Given the description of an element on the screen output the (x, y) to click on. 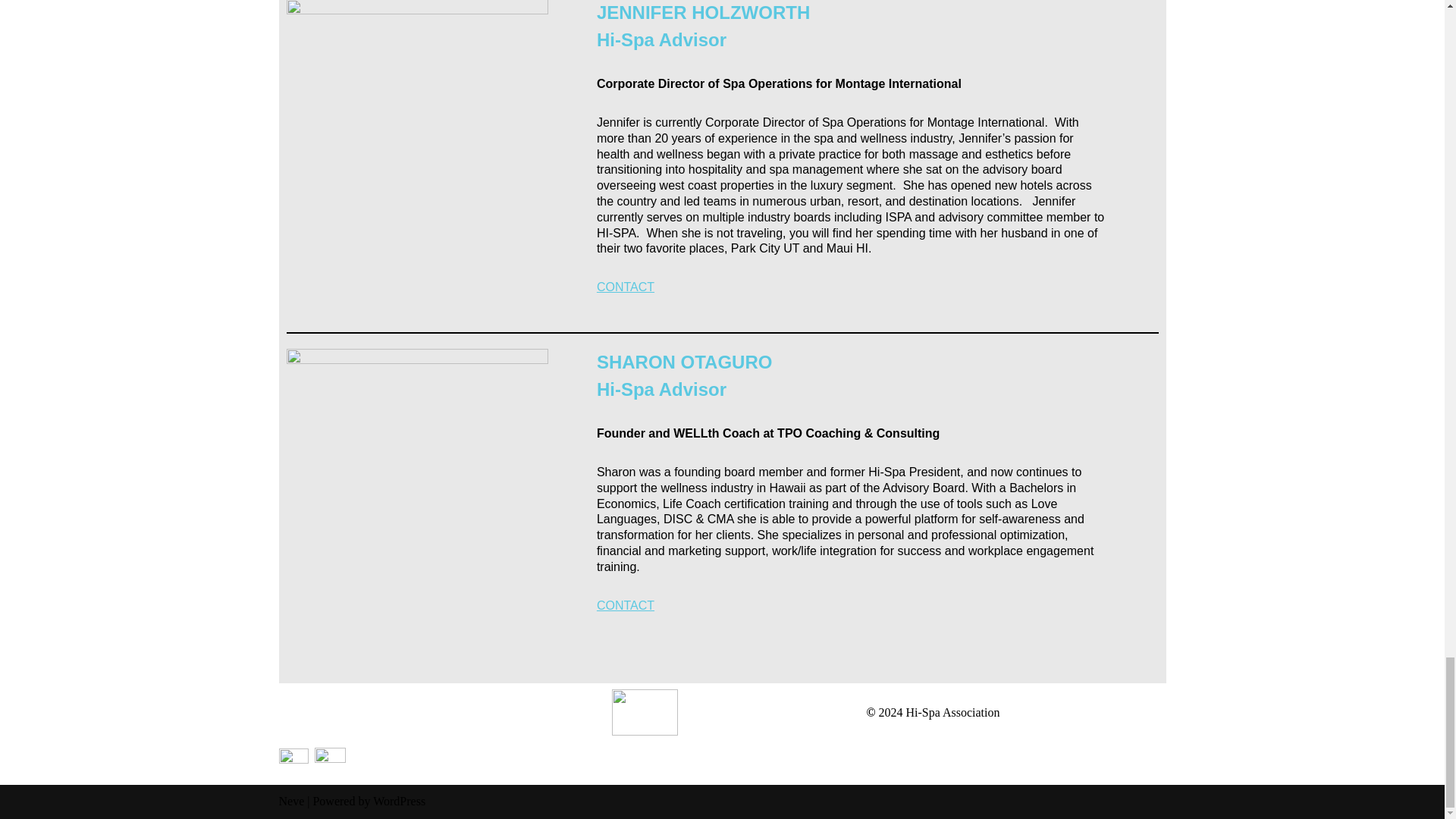
Neve (291, 800)
instagram-icon-2048x2048-uc6feurl (329, 762)
WordPress (398, 800)
CONTACT (624, 604)
CONTACT (624, 286)
